Given the description of an element on the screen output the (x, y) to click on. 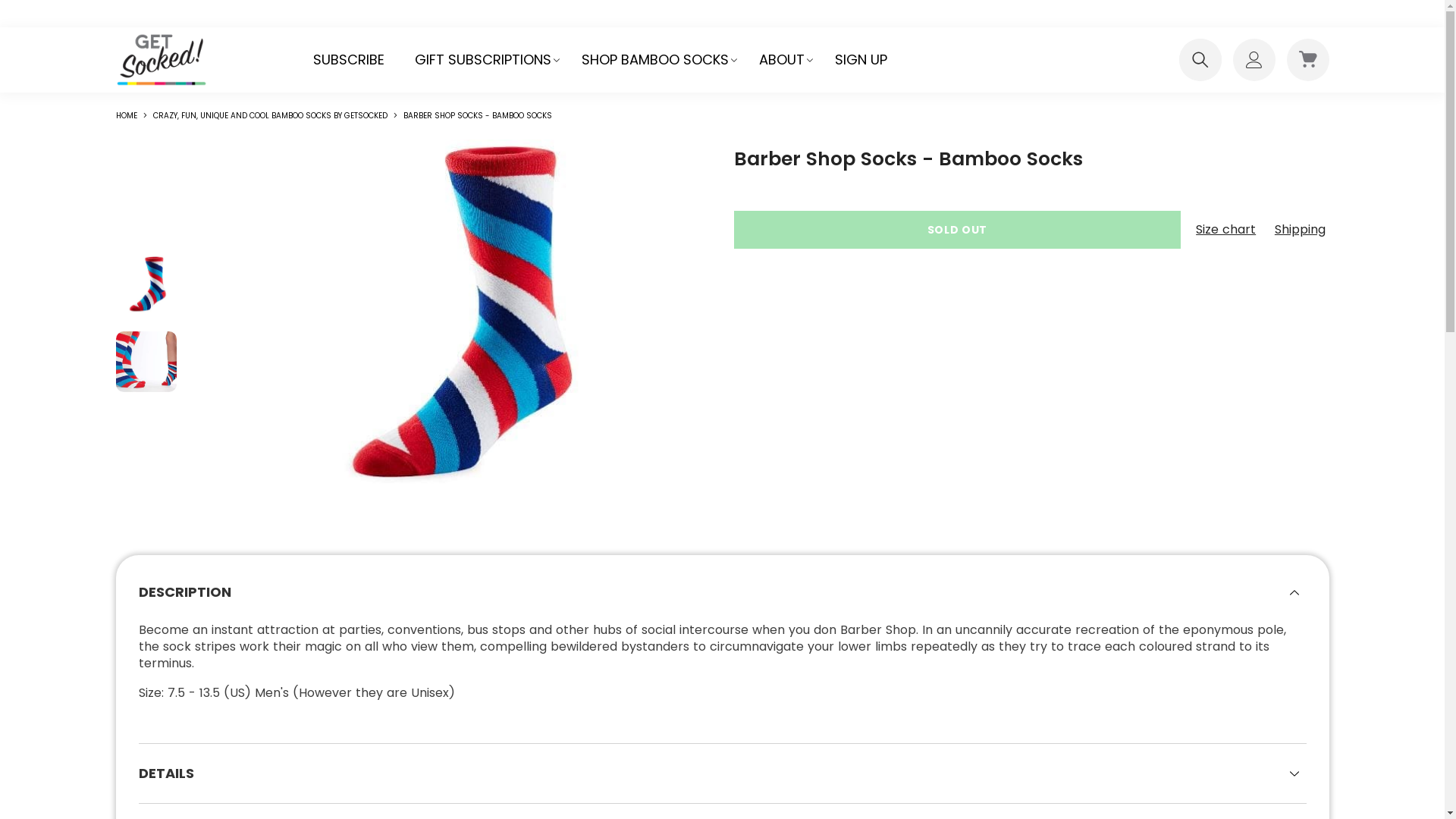
GIFT SUBSCRIPTIONS Element type: text (482, 59)
Shipping Element type: text (1301, 229)
Cart Element type: text (1307, 59)
Log in Element type: text (1325, 235)
Barber Shop Socks - Bamboo Socks Element type: hover (145, 361)
SHOP BAMBOO SOCKS Element type: text (654, 59)
DETAILS Element type: text (721, 773)
SUBSCRIBE Element type: text (347, 59)
CRAZY, FUN, UNIQUE AND COOL BAMBOO SOCKS BY GETSOCKED Element type: text (270, 115)
Barber Shop Socks - Bamboo Socks Element type: hover (145, 285)
SIGN UP Element type: text (860, 59)
DESCRIPTION Element type: text (721, 591)
SOLD OUT Element type: text (957, 229)
ABOUT Element type: text (780, 59)
Size chart Element type: text (1227, 229)
HOME Element type: text (125, 115)
Barber Shop Socks - Bamboo Socks Element type: hover (450, 323)
